Given the description of an element on the screen output the (x, y) to click on. 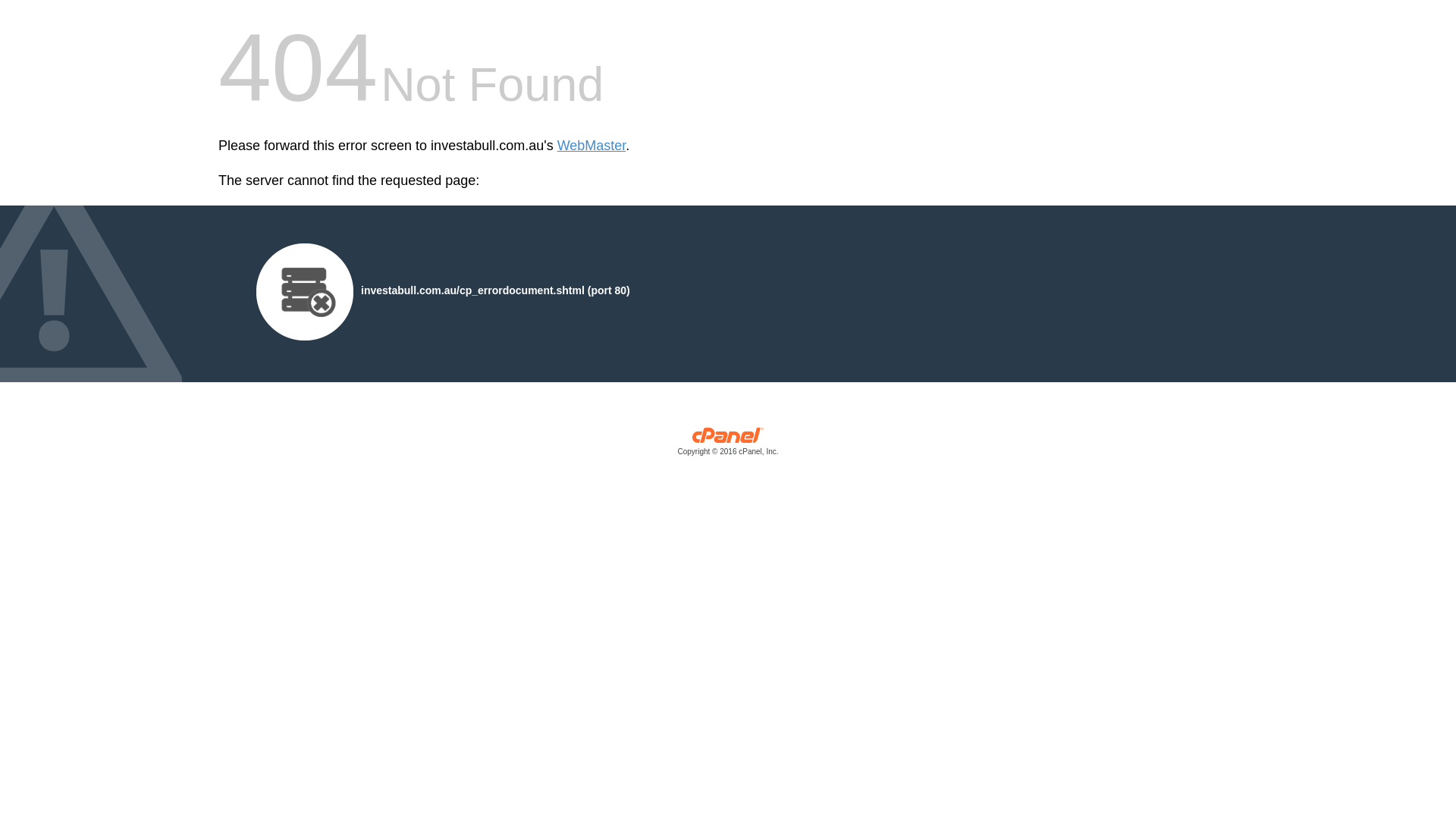
WebMaster Element type: text (591, 145)
